Given the description of an element on the screen output the (x, y) to click on. 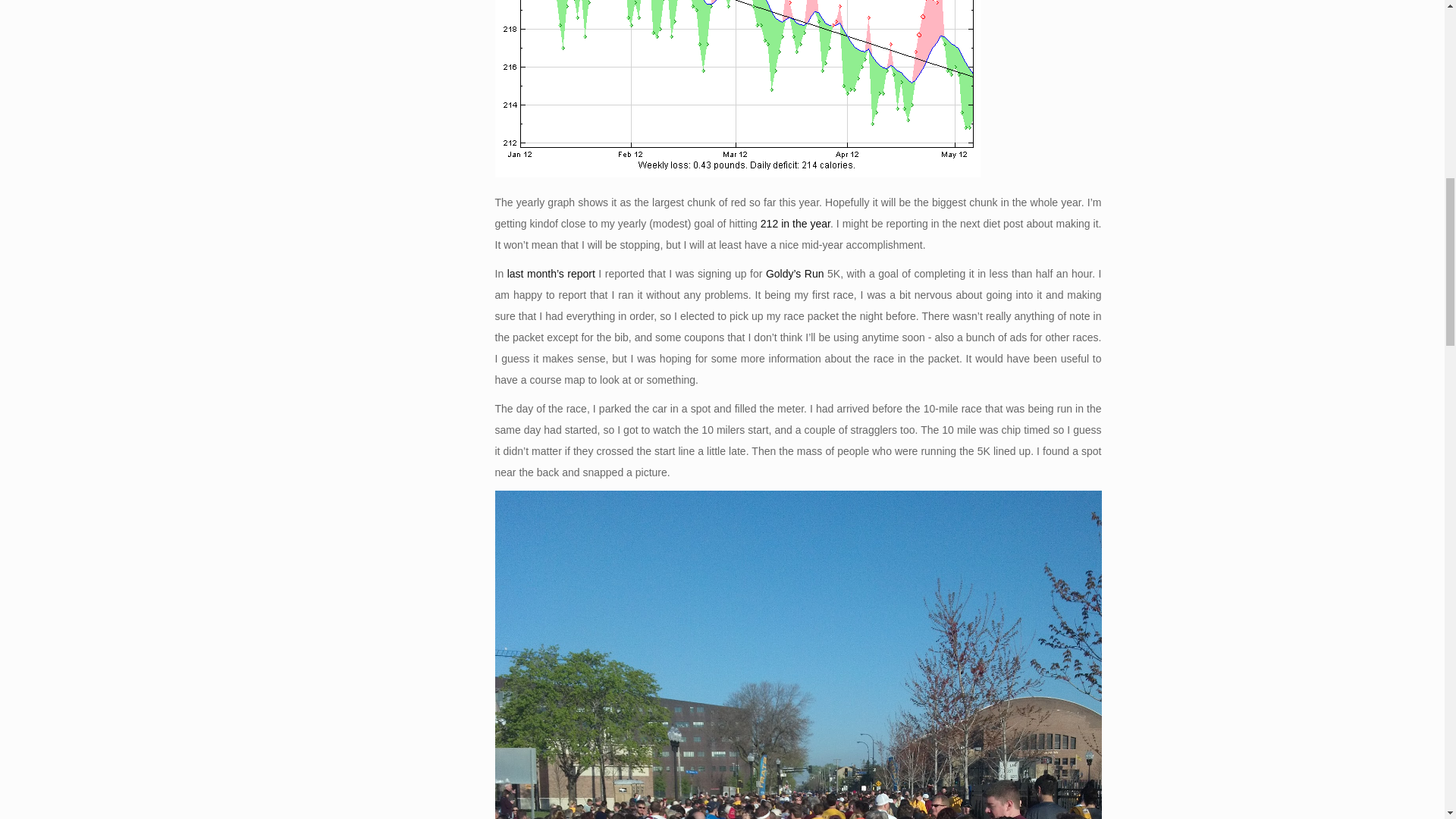
212 in the year (794, 223)
